Given the description of an element on the screen output the (x, y) to click on. 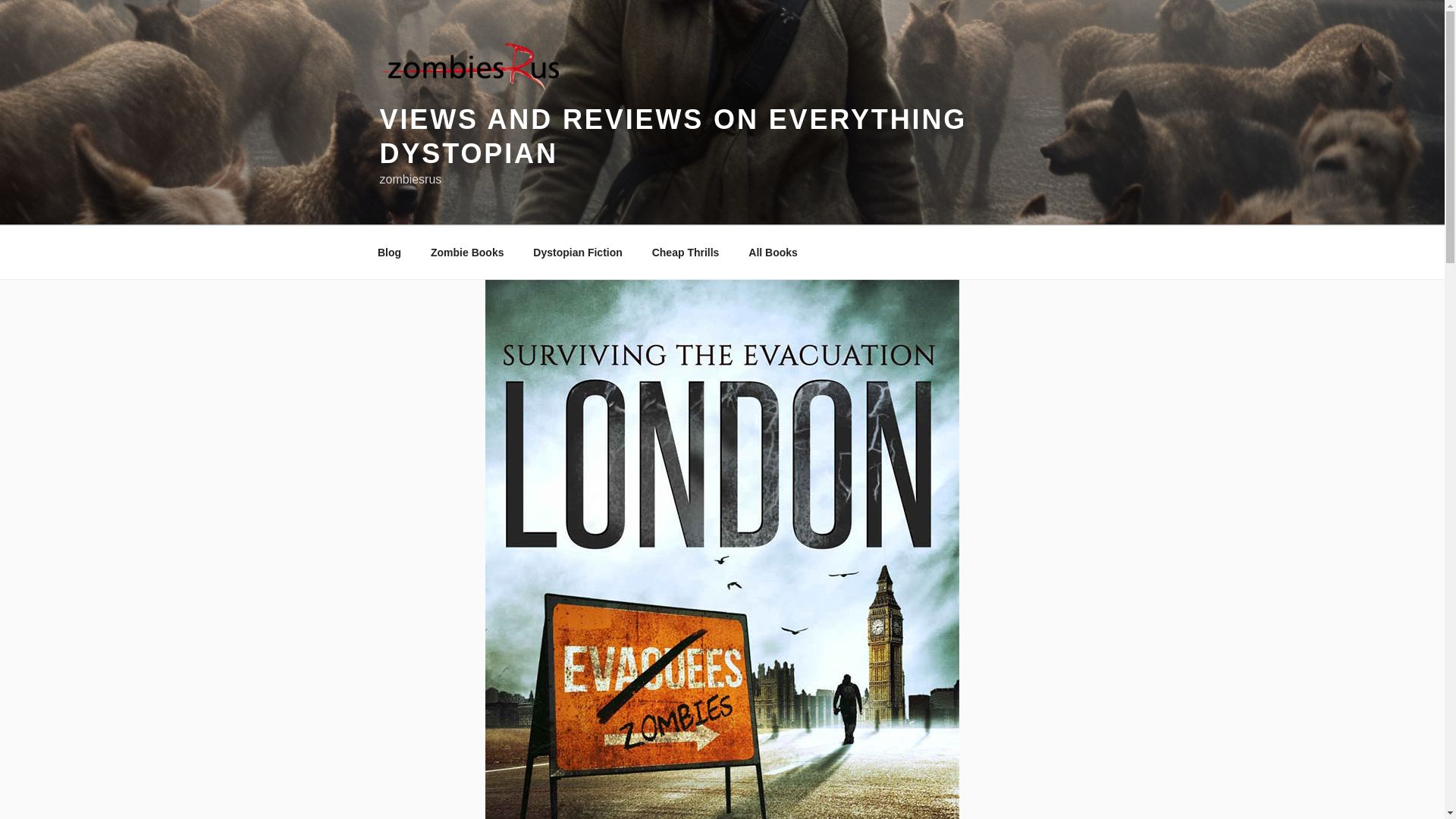
Cheap Thrills (685, 252)
Zombie Books (466, 252)
Blog (388, 252)
All Books (772, 252)
Dystopian Fiction (576, 252)
VIEWS AND REVIEWS ON EVERYTHING DYSTOPIAN (672, 136)
